Given the description of an element on the screen output the (x, y) to click on. 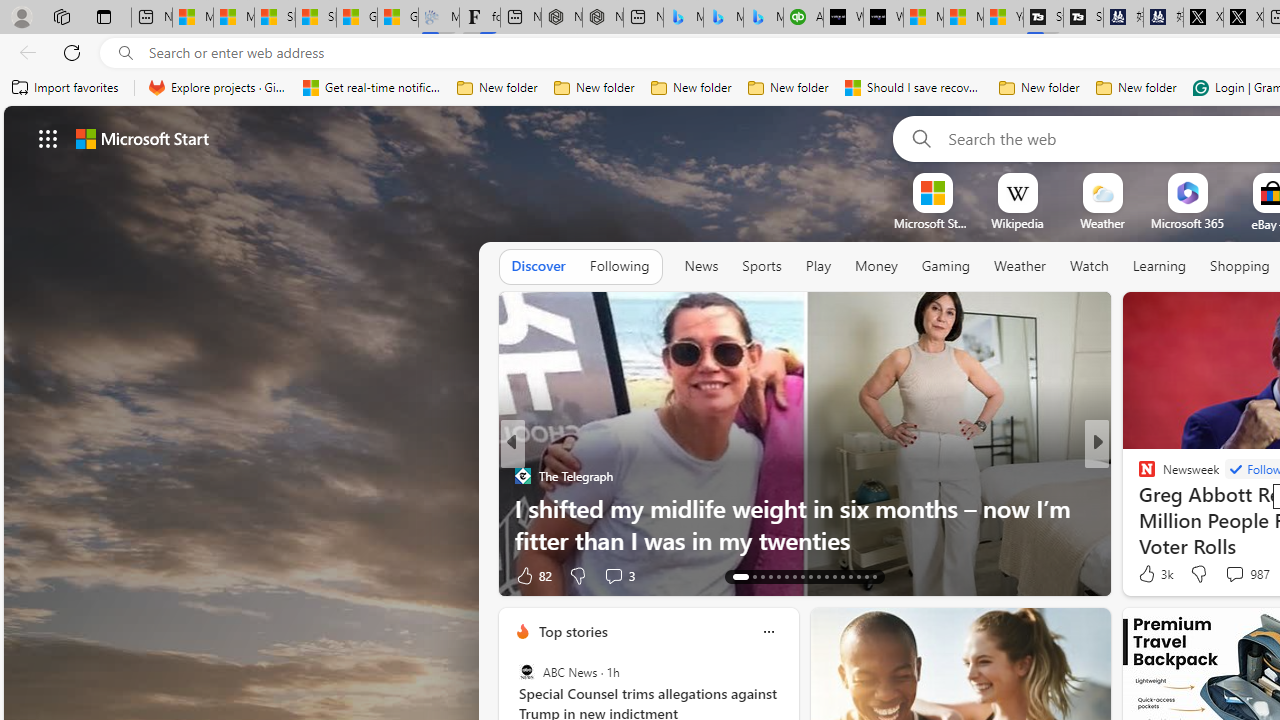
55 Like (1149, 574)
Nordace.com (1165, 507)
View comments 156 Comment (1247, 574)
View comments 52 Comment (1237, 574)
Interesting Engineering (1138, 475)
AutomationID: tab-23 (825, 576)
AutomationID: tab-25 (842, 576)
Should I save recovered Word documents? - Microsoft Support (913, 88)
AutomationID: waffle (47, 138)
View comments 174 Comment (1247, 574)
82 Like (532, 574)
Top stories (572, 631)
